Given the description of an element on the screen output the (x, y) to click on. 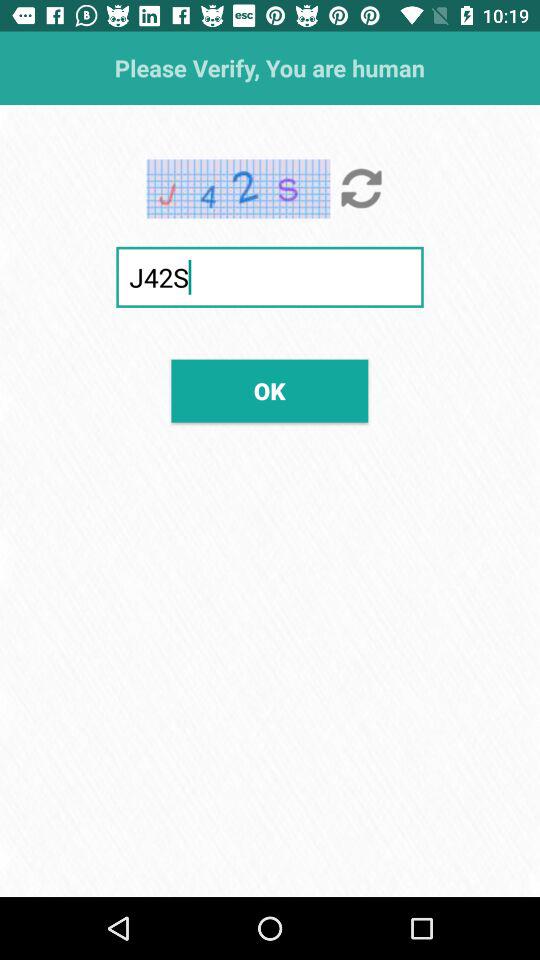
select the icon below j42s item (269, 390)
